Given the description of an element on the screen output the (x, y) to click on. 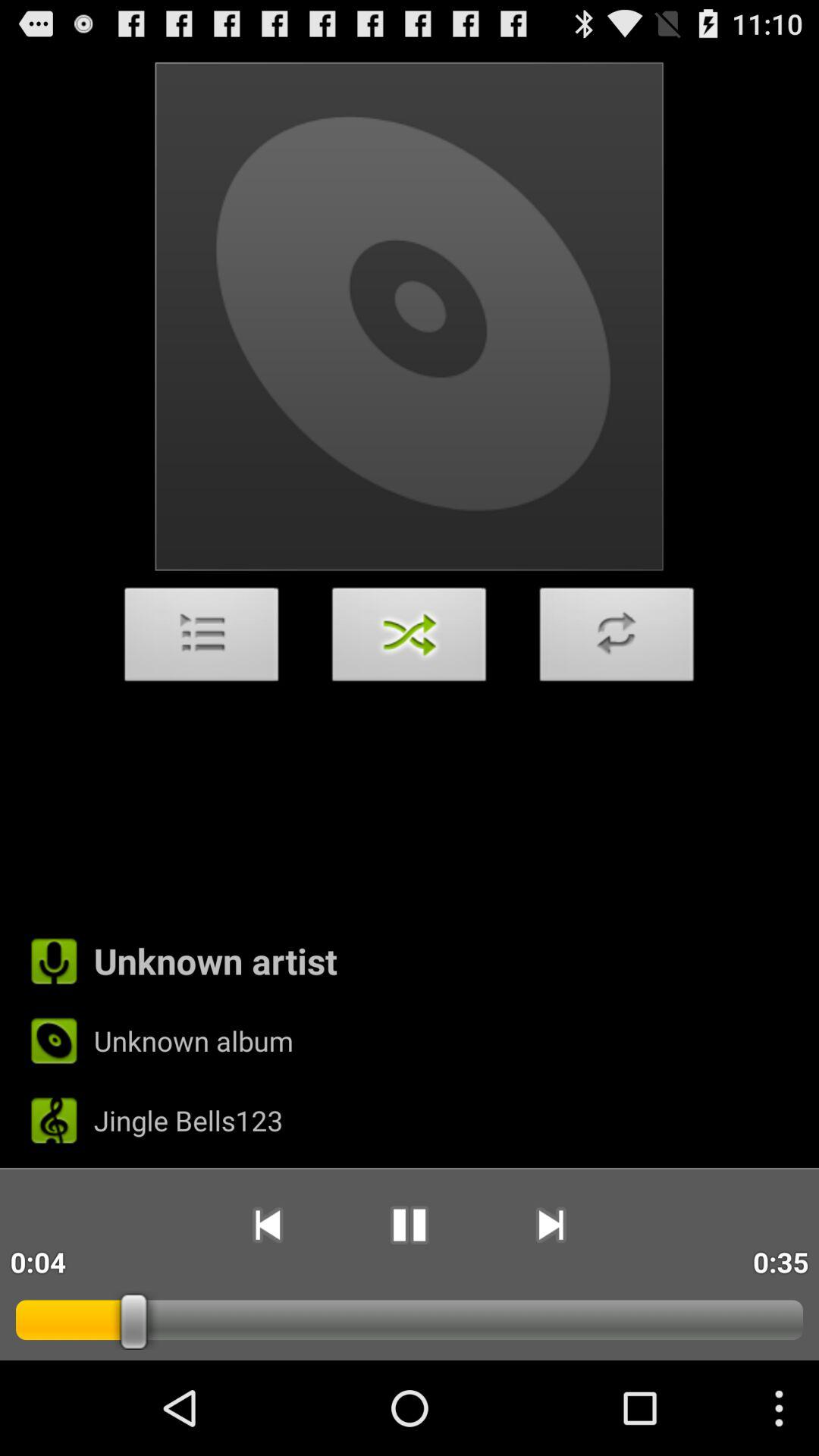
select the item above the unknown artist (616, 638)
